Given the description of an element on the screen output the (x, y) to click on. 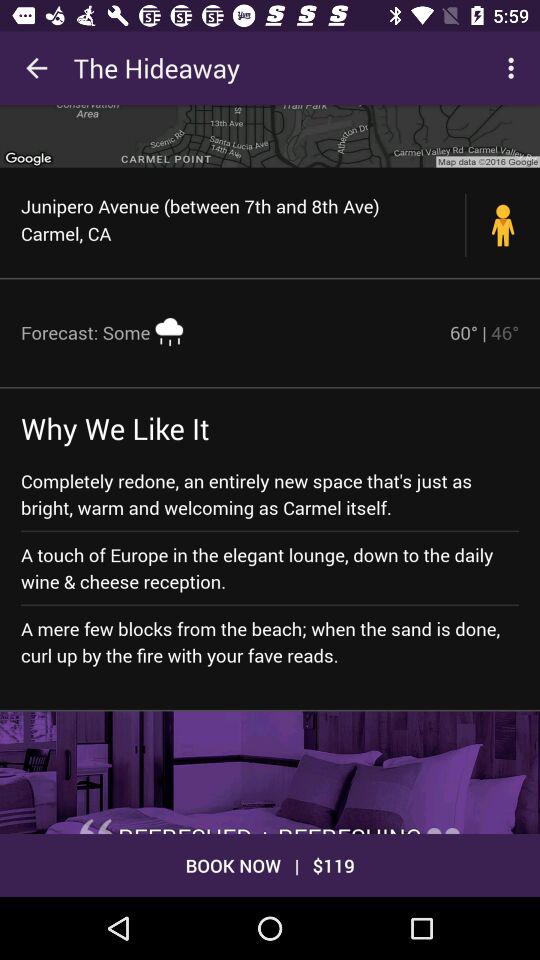
select the icon next to the forecast: some   icon (484, 332)
